Given the description of an element on the screen output the (x, y) to click on. 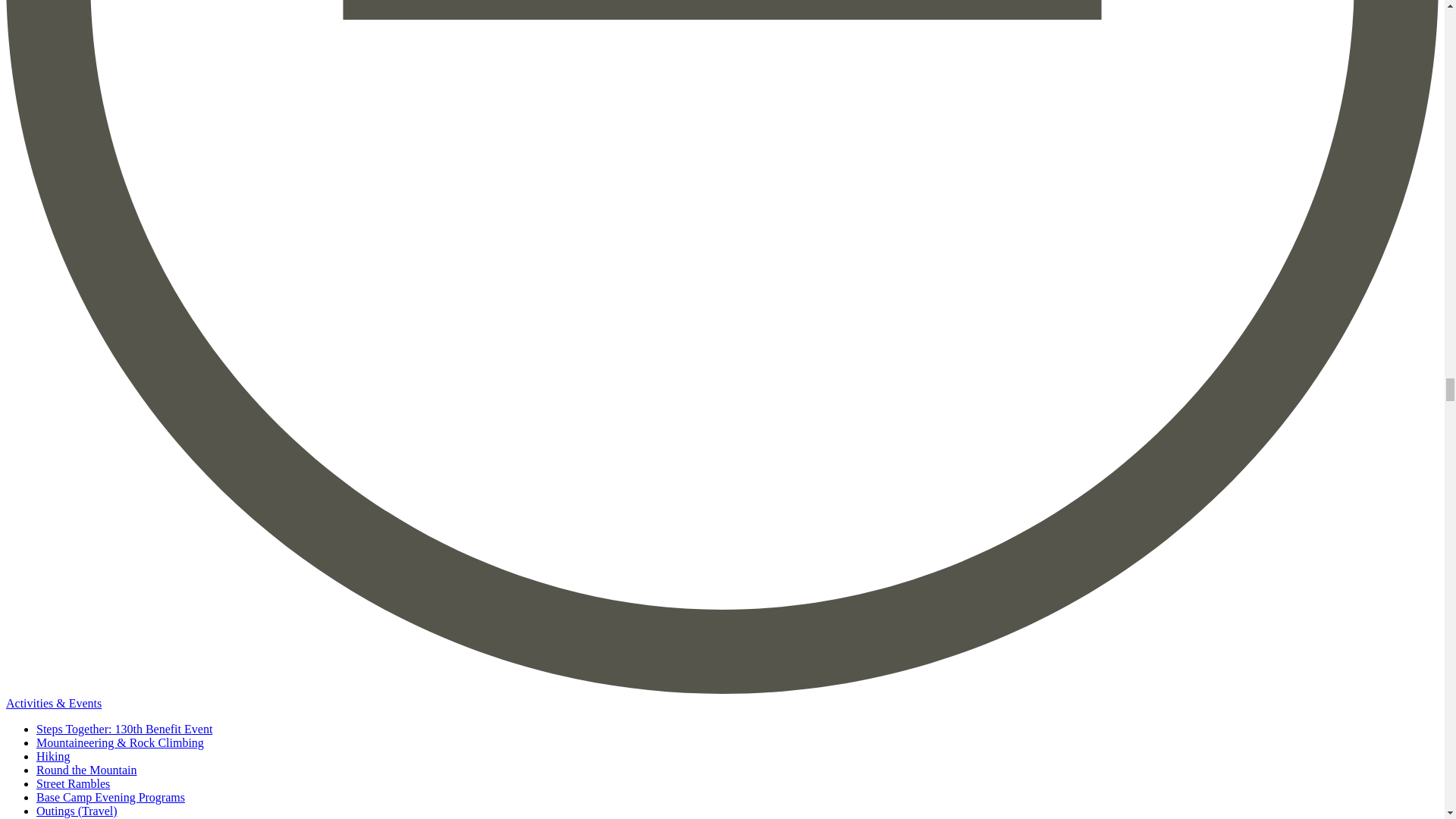
Steps Together: 130th Benefit Event (124, 728)
